Given the description of an element on the screen output the (x, y) to click on. 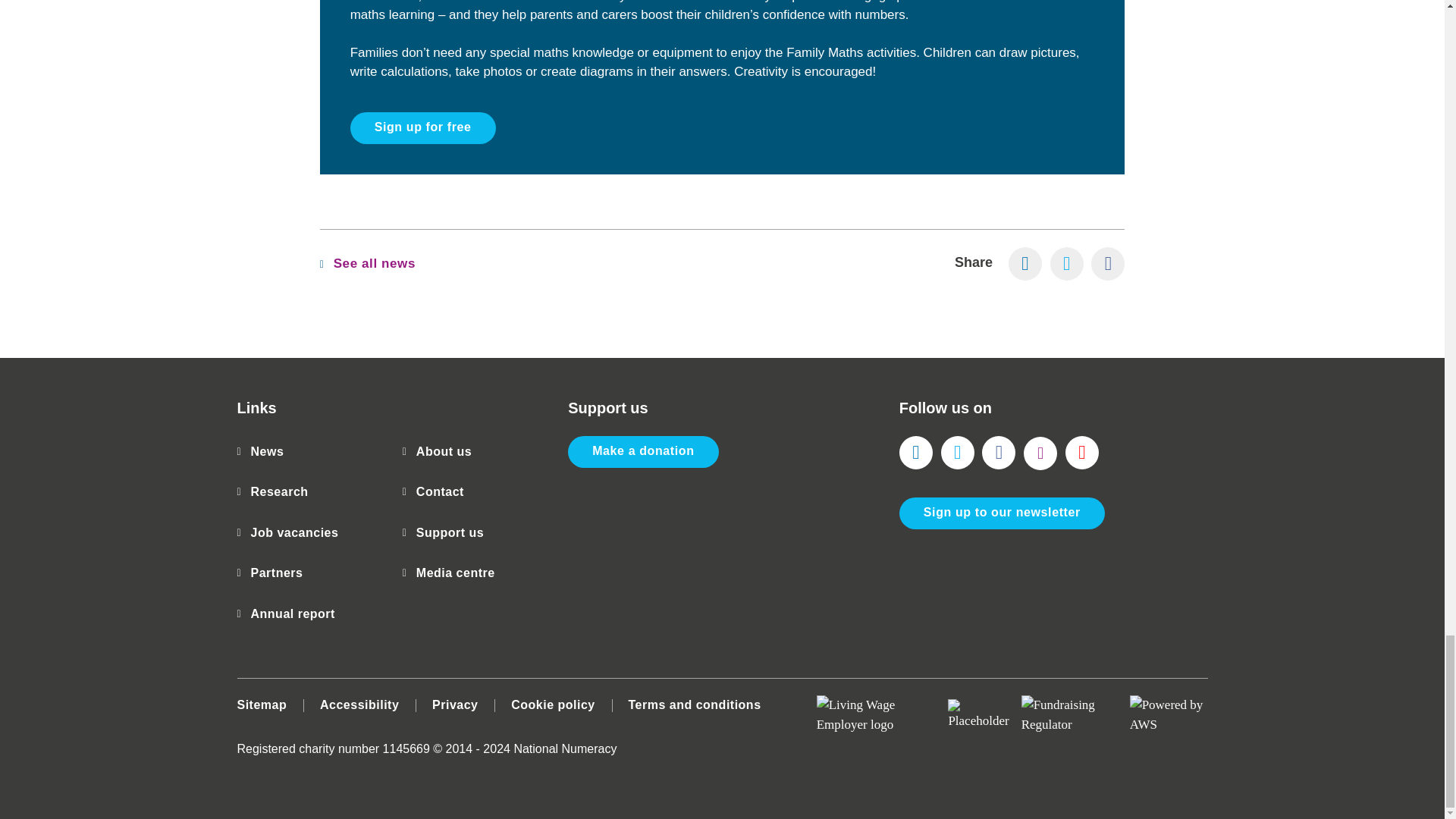
Twitter (1066, 263)
Instagram (1040, 453)
LinkedIn (1025, 263)
Youtube (1082, 452)
Facebook (997, 452)
Linkedin (916, 452)
Twitter (957, 452)
Facebook (1107, 263)
